Given the description of an element on the screen output the (x, y) to click on. 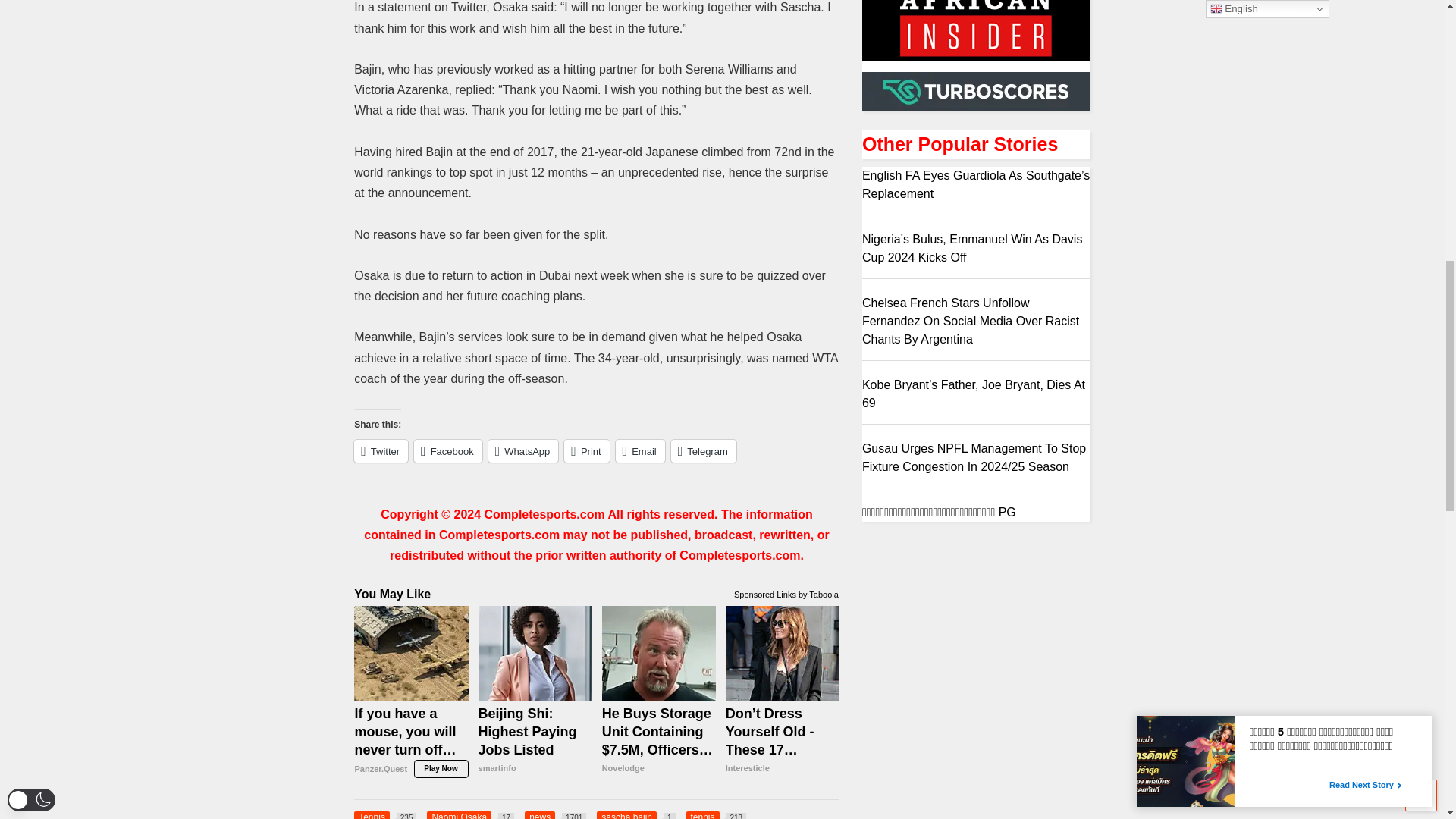
Click to email a link to a friend (640, 450)
Click to print (586, 450)
Click to share on Twitter (380, 450)
Click to share on Telegram (703, 450)
Click to share on Facebook (447, 450)
Click to share on WhatsApp (523, 450)
